Given the description of an element on the screen output the (x, y) to click on. 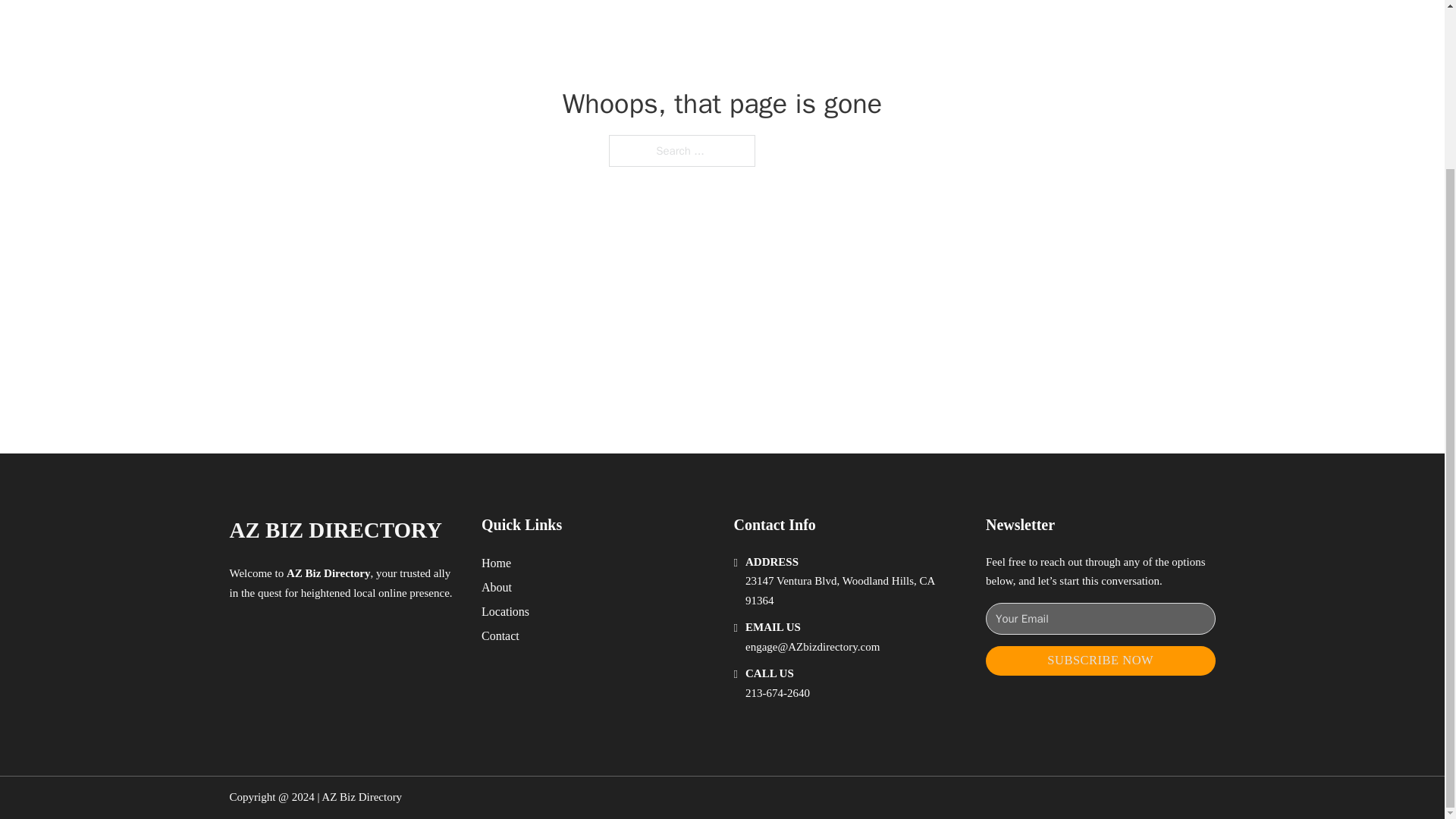
SUBSCRIBE NOW (1100, 660)
About (496, 587)
213-674-2640 (777, 693)
Home (496, 562)
AZ BIZ DIRECTORY (334, 529)
Locations (505, 611)
Contact (500, 635)
